Given the description of an element on the screen output the (x, y) to click on. 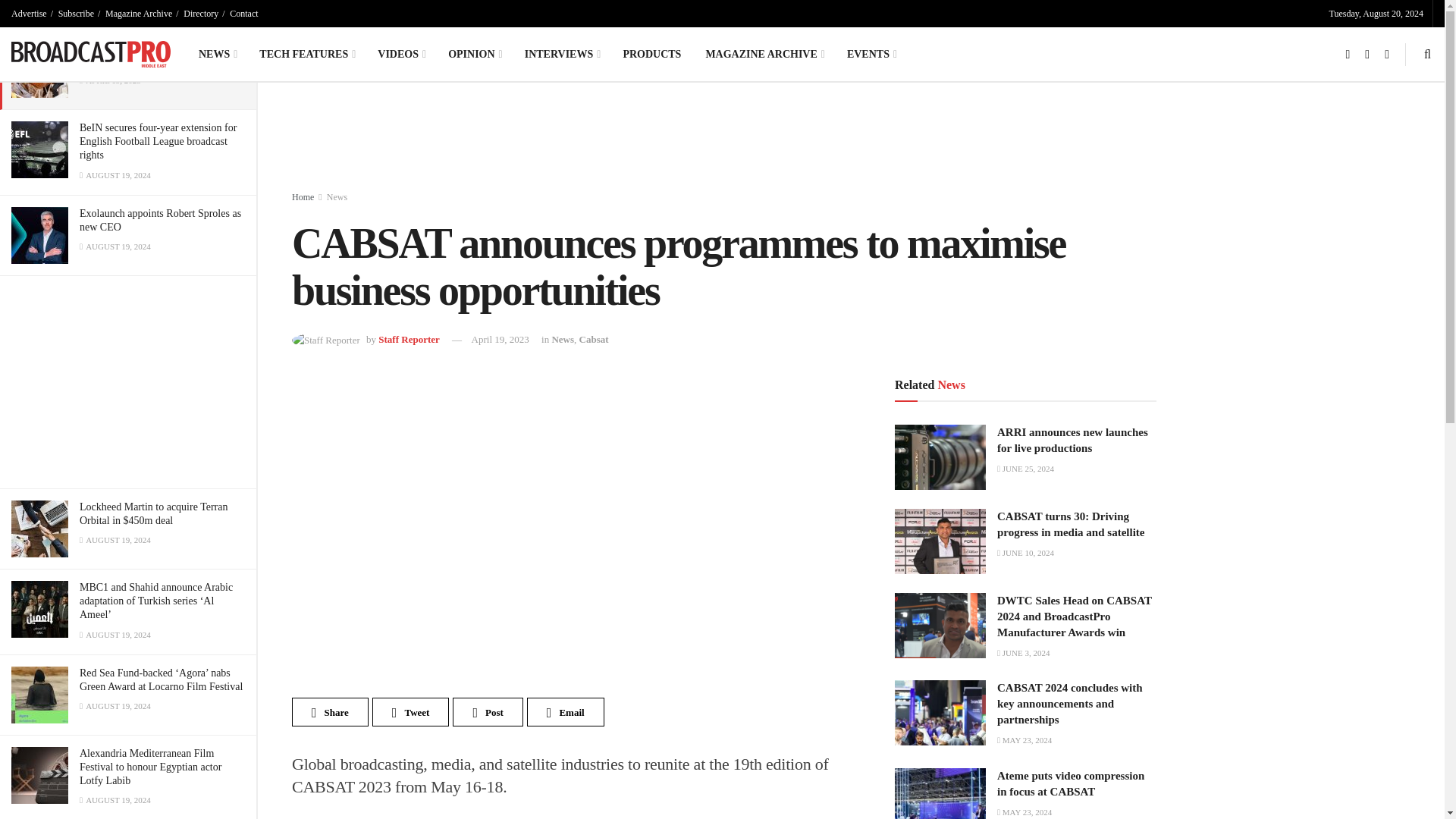
Magazine Archive (137, 13)
Advertise (28, 13)
3rd party ad content (127, 381)
3rd party ad content (659, 139)
Exolaunch appoints Robert Sproles as new CEO (160, 220)
Contact (243, 13)
Subscribe (76, 13)
